Given the description of an element on the screen output the (x, y) to click on. 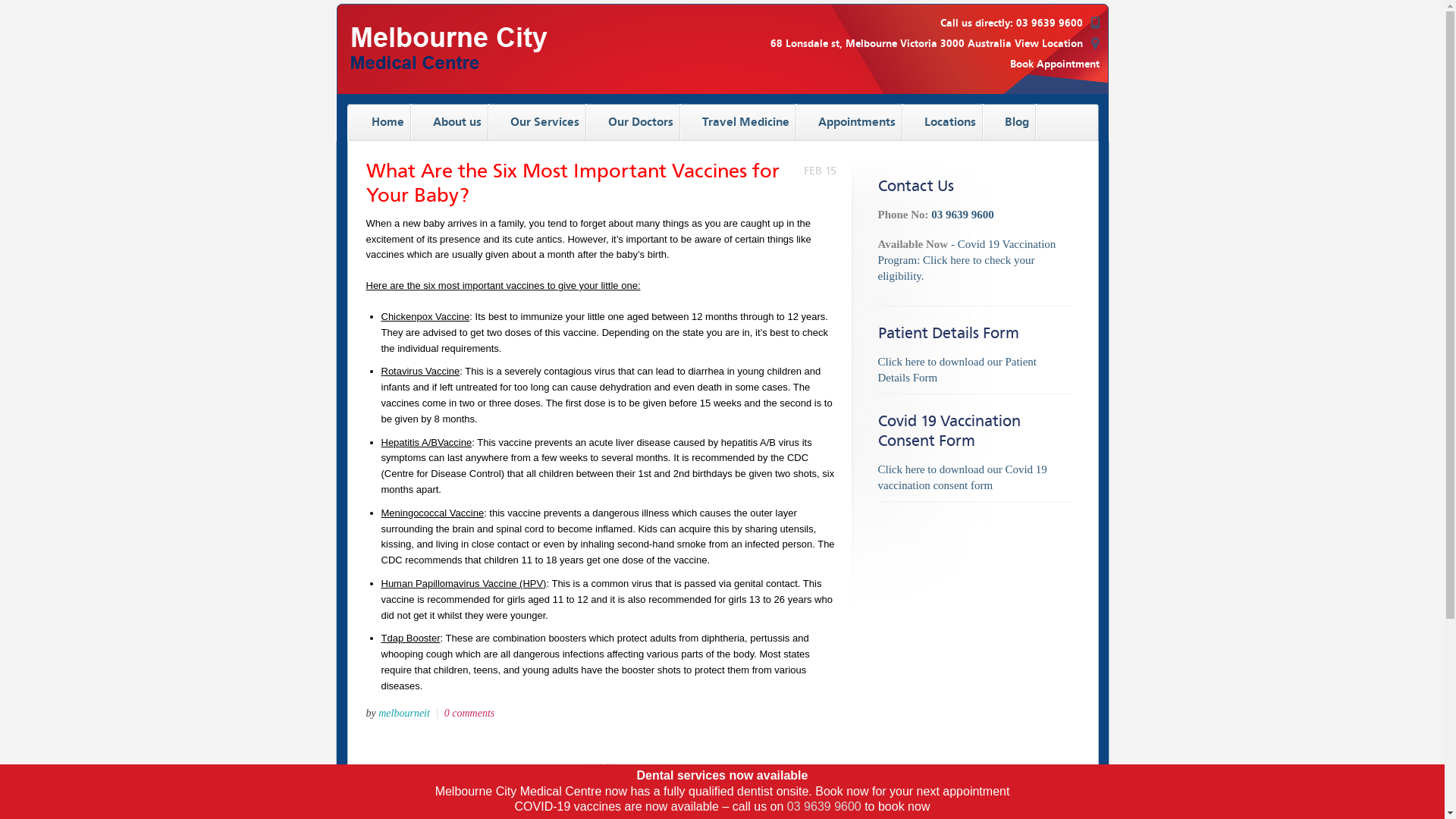
Click here to download our Covid 19 vaccination consent form Element type: text (962, 477)
Blog Element type: text (1010, 120)
0 comments Element type: text (469, 712)
Our Services Element type: text (538, 120)
Home Element type: text (382, 120)
melbourneit Element type: text (403, 712)
Appointments Element type: text (850, 120)
Click here Element type: text (945, 260)
Book Appointment Element type: text (1054, 63)
Our Doctors Element type: text (634, 120)
View Location Element type: text (1056, 43)
03 9639 9600 Element type: text (824, 806)
About us Element type: text (451, 120)
Click here to download our Patient Details Form Element type: text (957, 369)
Locations Element type: text (943, 120)
03 9639 9600 Element type: text (1049, 22)
Travel Medicine Element type: text (740, 120)
